Given the description of an element on the screen output the (x, y) to click on. 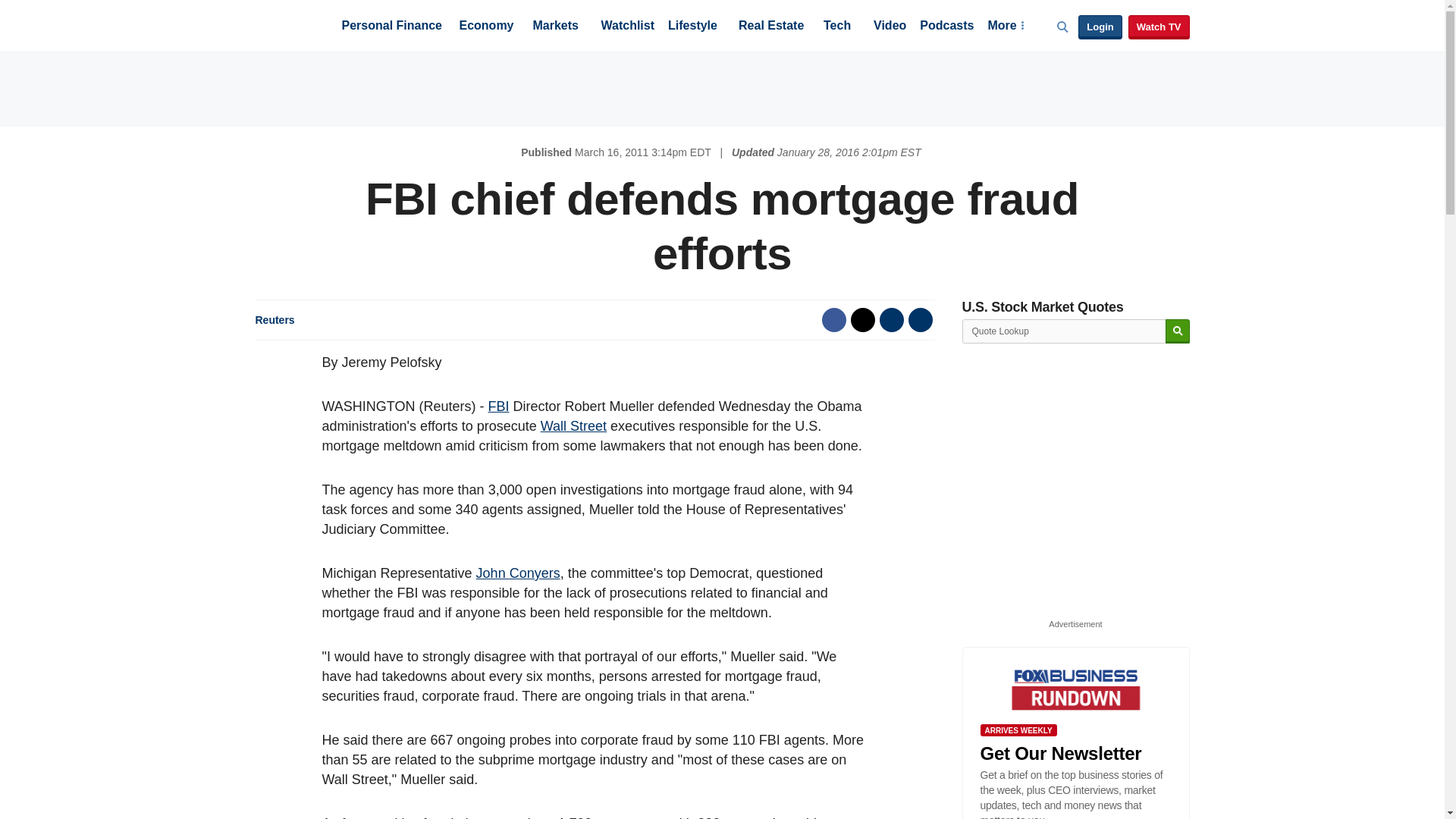
Lifestyle (692, 27)
Watch TV (1158, 27)
Podcasts (947, 27)
Fox Business (290, 24)
Tech (837, 27)
Search (1176, 331)
Video (889, 27)
Real Estate (770, 27)
Login (1099, 27)
Economy (486, 27)
Markets (555, 27)
Watchlist (626, 27)
Search (1176, 331)
More (1005, 27)
Personal Finance (391, 27)
